Given the description of an element on the screen output the (x, y) to click on. 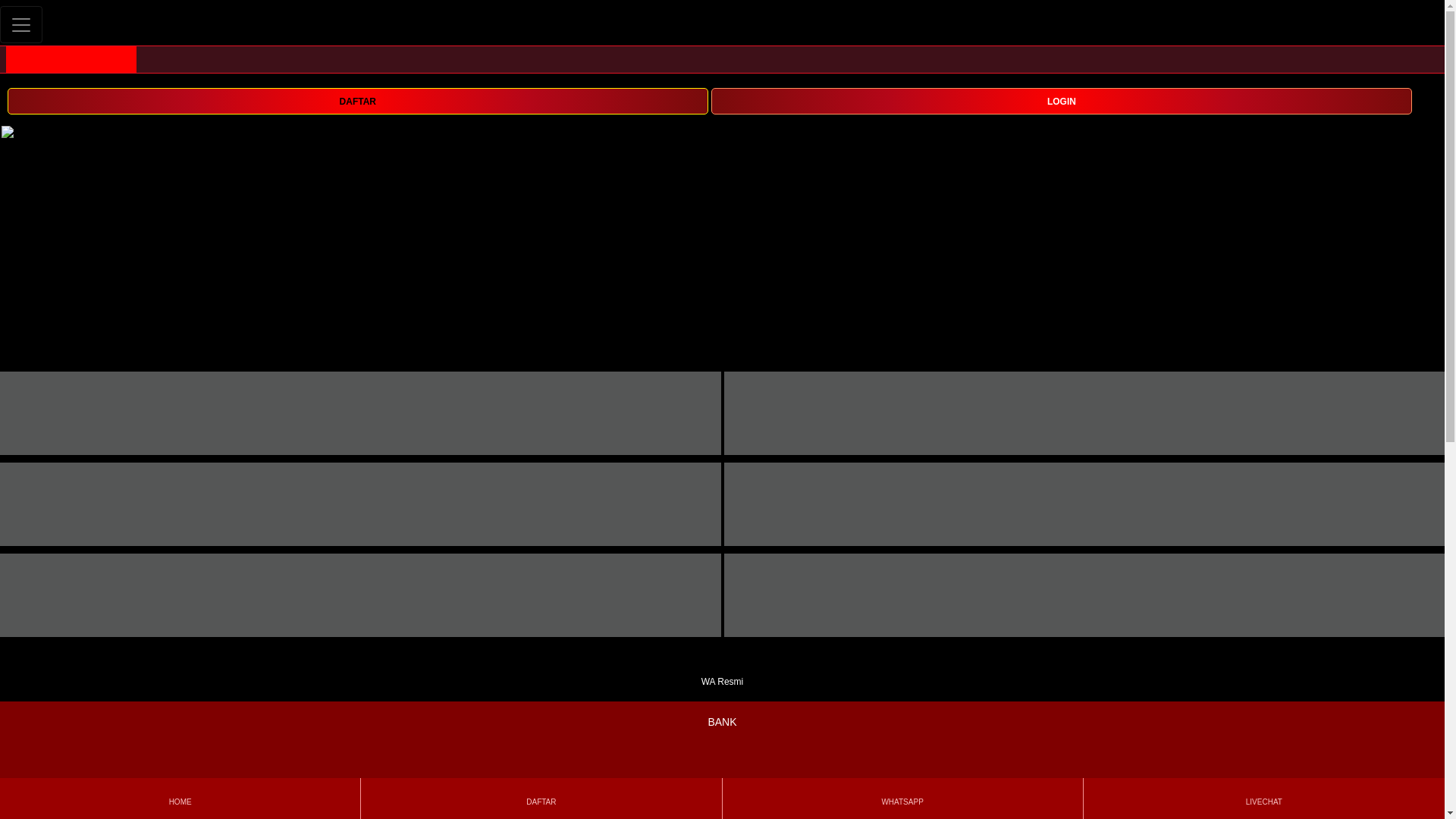
LIVECHAT (1263, 798)
HOME (179, 798)
DAFTAR (357, 100)
DAFTAR (540, 798)
DAFTAR (357, 100)
WA Resmi (722, 672)
LOGIN (1061, 100)
LOGIN (1061, 100)
WHATSAPP (901, 798)
